Given the description of an element on the screen output the (x, y) to click on. 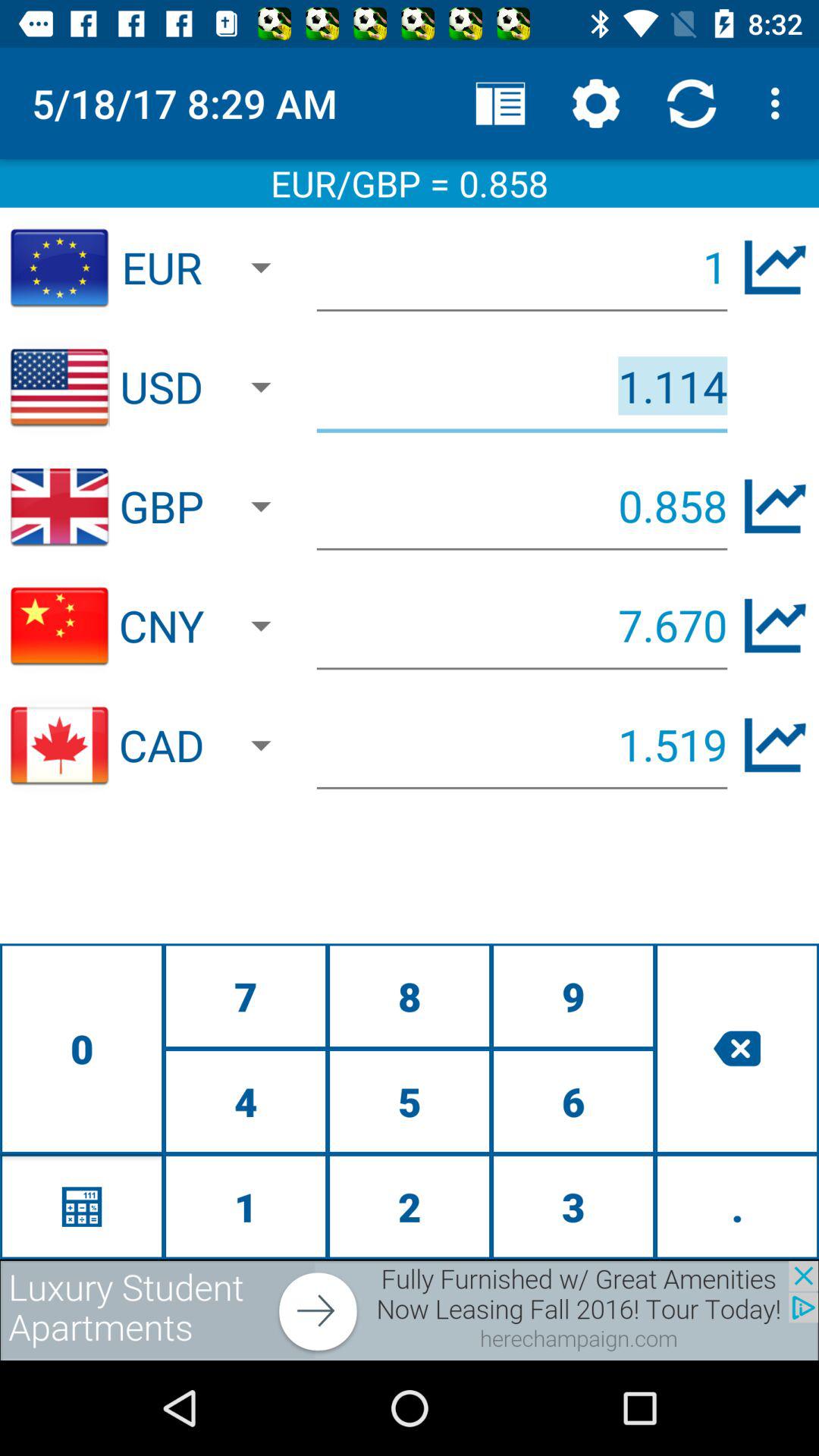
backspace option (737, 1048)
